Given the description of an element on the screen output the (x, y) to click on. 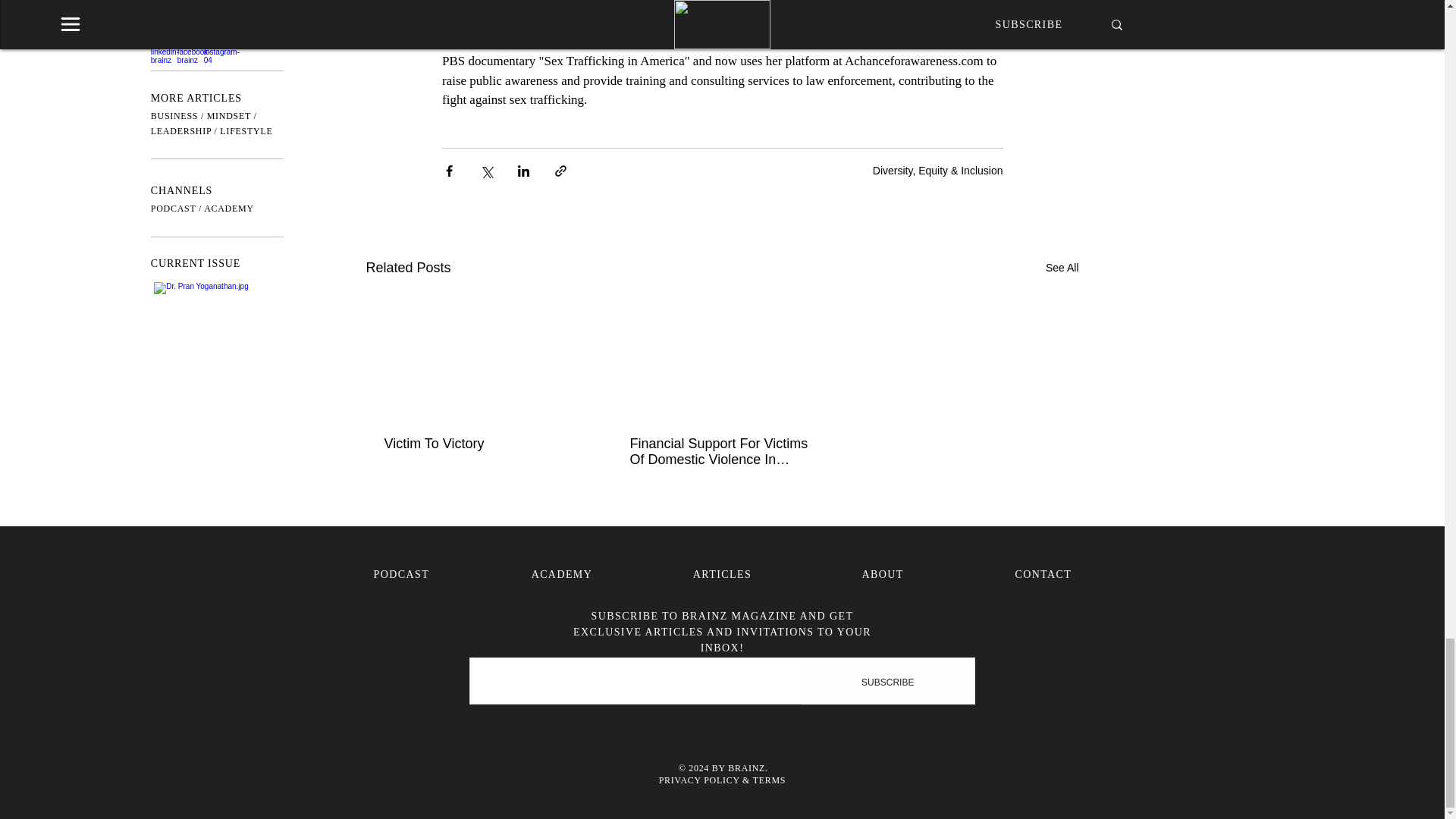
SUBSCRIBE (887, 682)
See All (1061, 268)
Financial Support For Victims Of Domestic Violence In Brazil (720, 451)
Victim To Victory (475, 443)
PODCAST (401, 573)
